Given the description of an element on the screen output the (x, y) to click on. 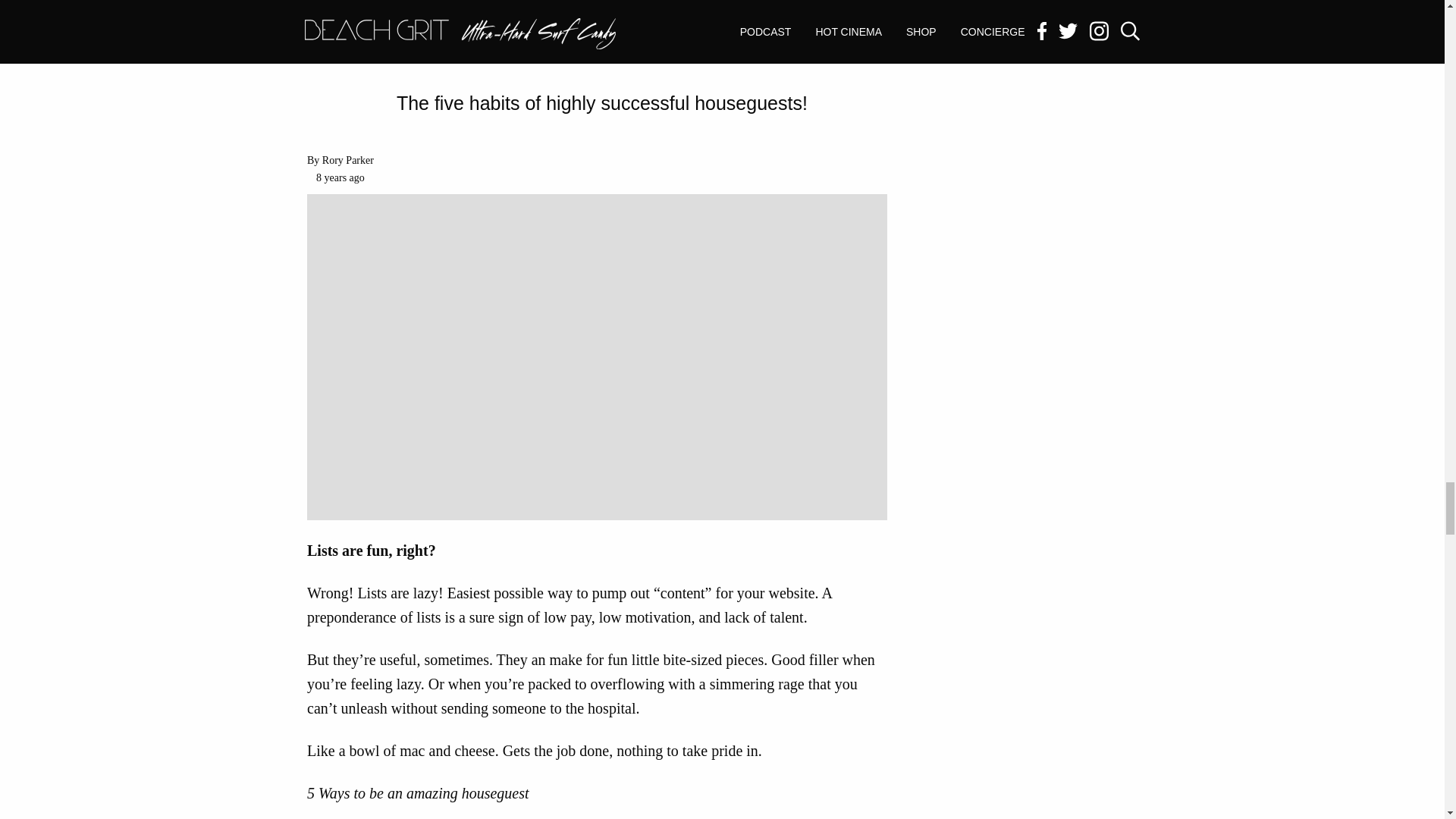
Rory Parker (347, 160)
